Given the description of an element on the screen output the (x, y) to click on. 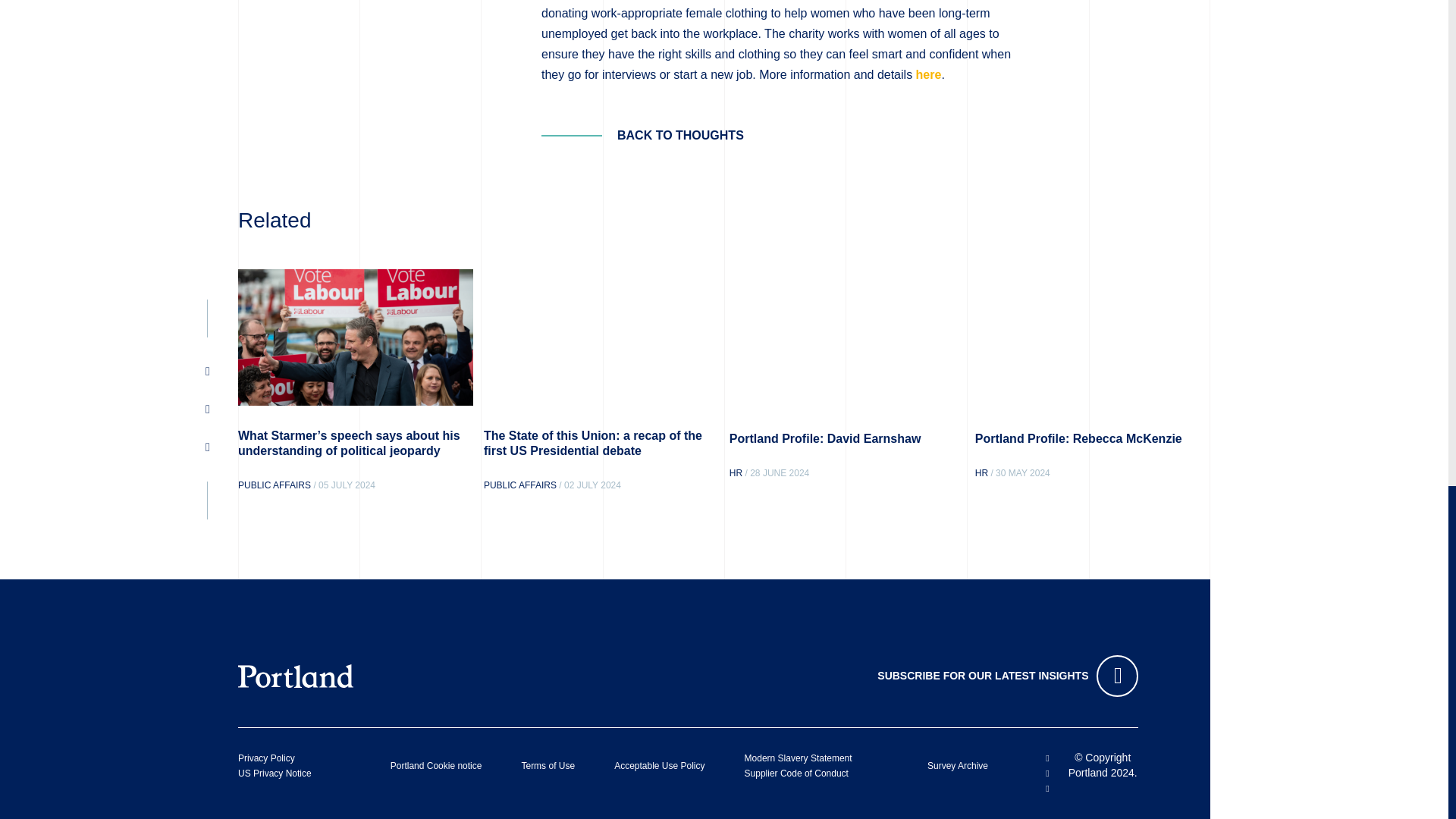
BACK TO THOUGHTS (642, 134)
PUBLIC AFFAIRS (274, 484)
here (928, 74)
